Given the description of an element on the screen output the (x, y) to click on. 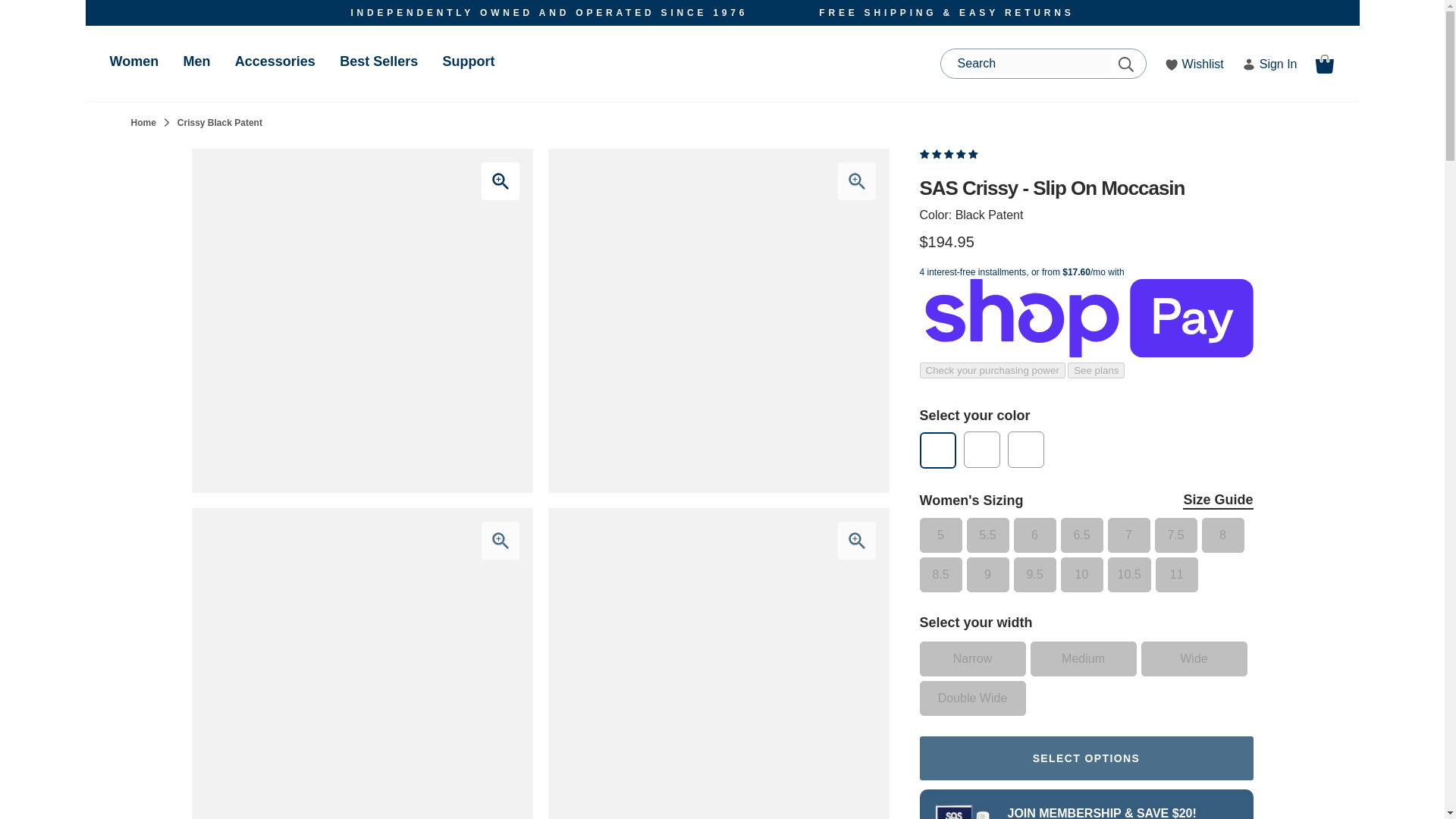
Men (195, 61)
Search (1126, 64)
Accessories (274, 61)
Women (133, 61)
